Given the description of an element on the screen output the (x, y) to click on. 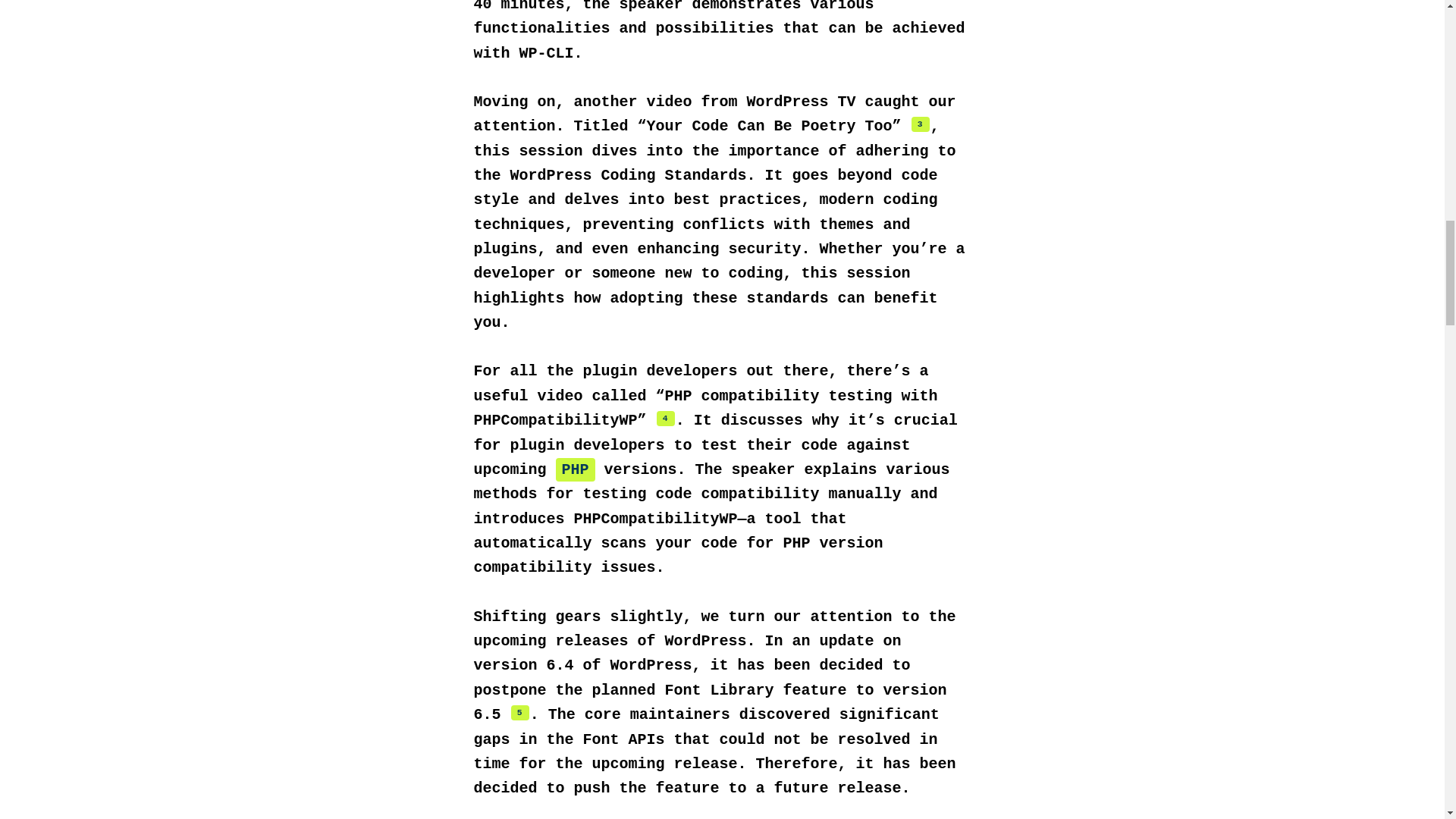
4 (665, 418)
PHP (575, 469)
3 (920, 124)
5 (520, 712)
